Given the description of an element on the screen output the (x, y) to click on. 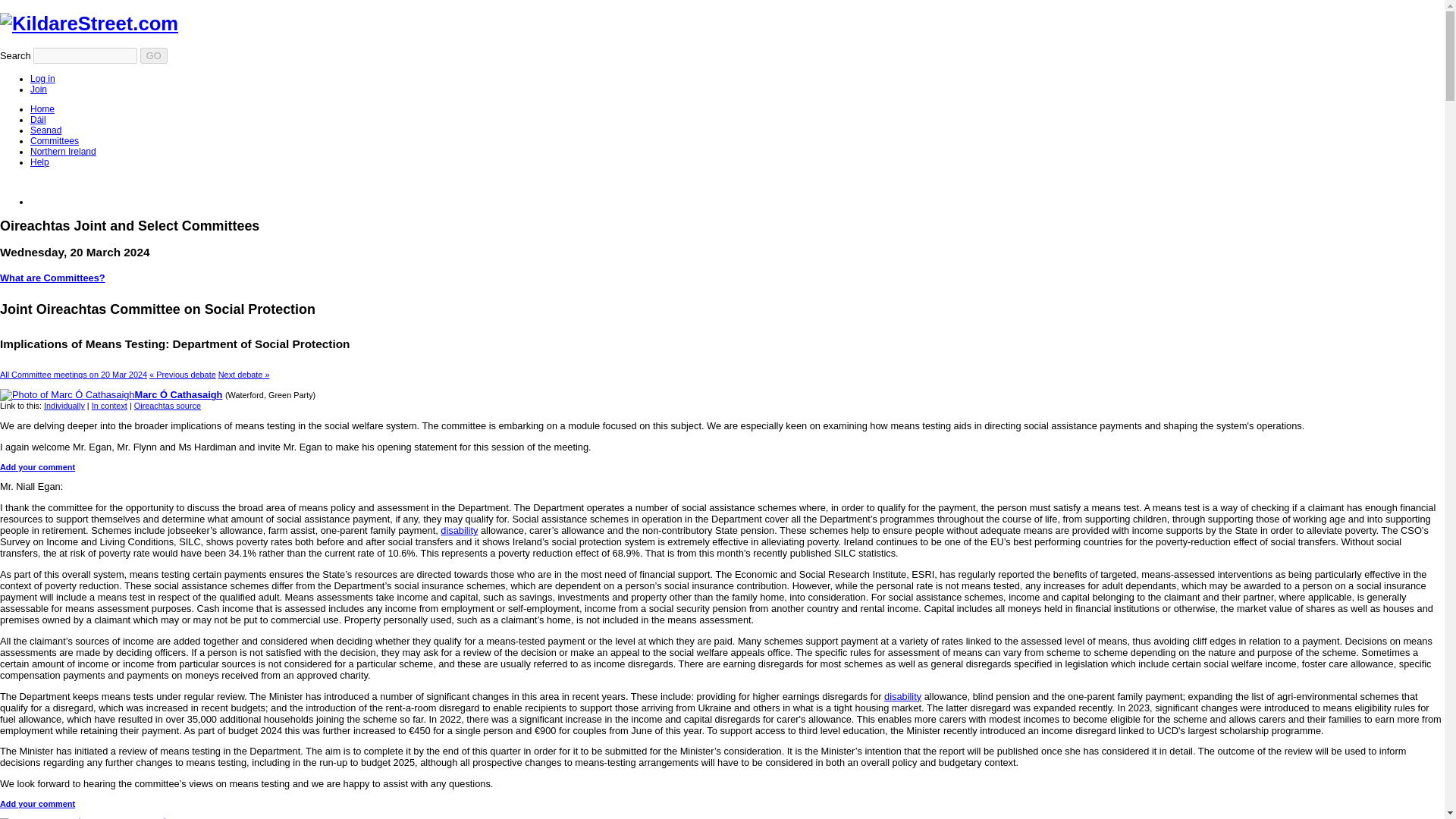
Northern Ireland (63, 151)
Committees (54, 140)
Answers to your questions (39, 162)
GO (153, 55)
Home (42, 109)
Individually (63, 405)
Help (39, 162)
In context (109, 405)
Oireachtas source (166, 405)
If you've already joined, log in to post comments (42, 78)
